Given the description of an element on the screen output the (x, y) to click on. 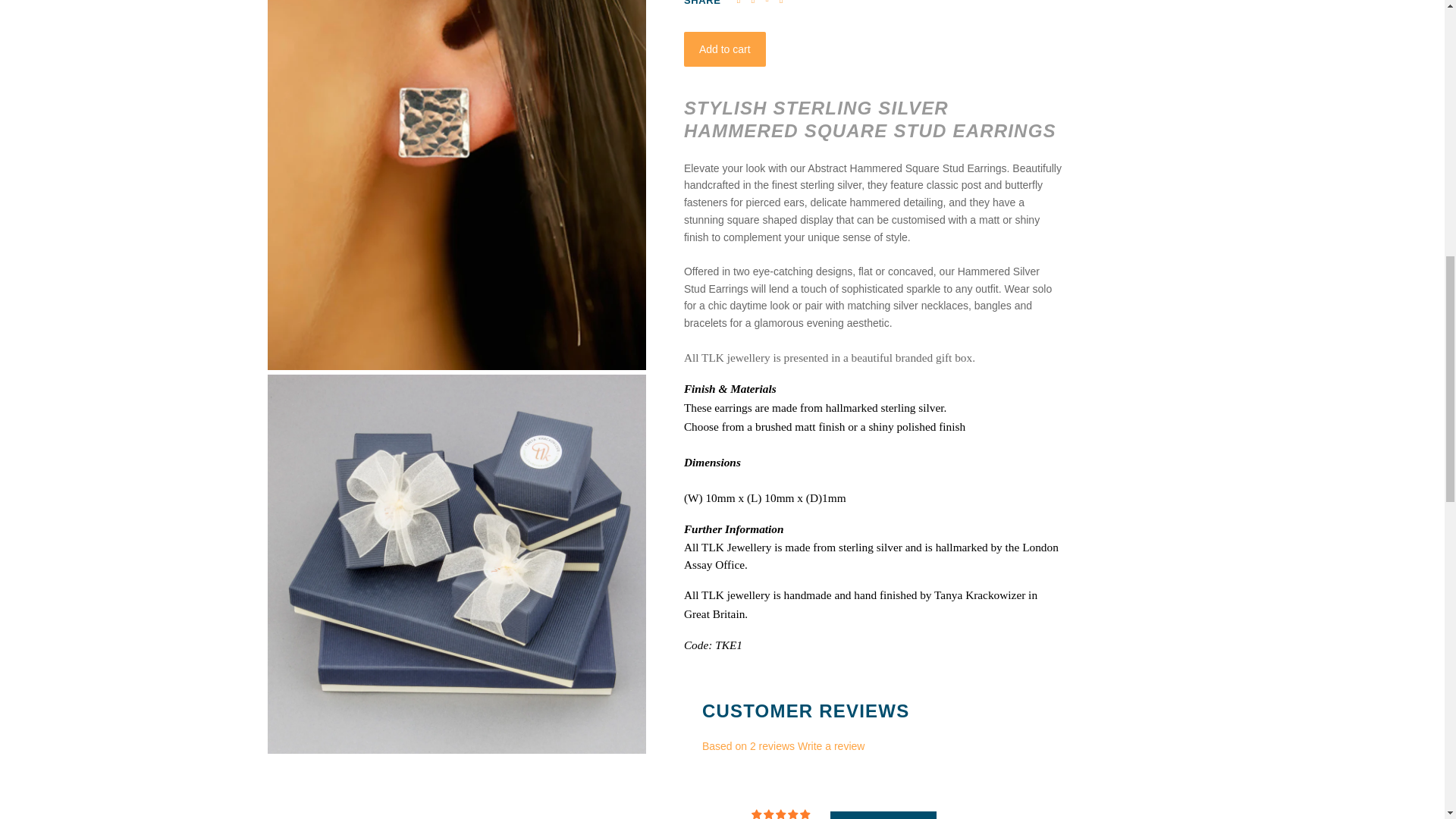
Add to cart (724, 48)
Add to cart (724, 48)
